Given the description of an element on the screen output the (x, y) to click on. 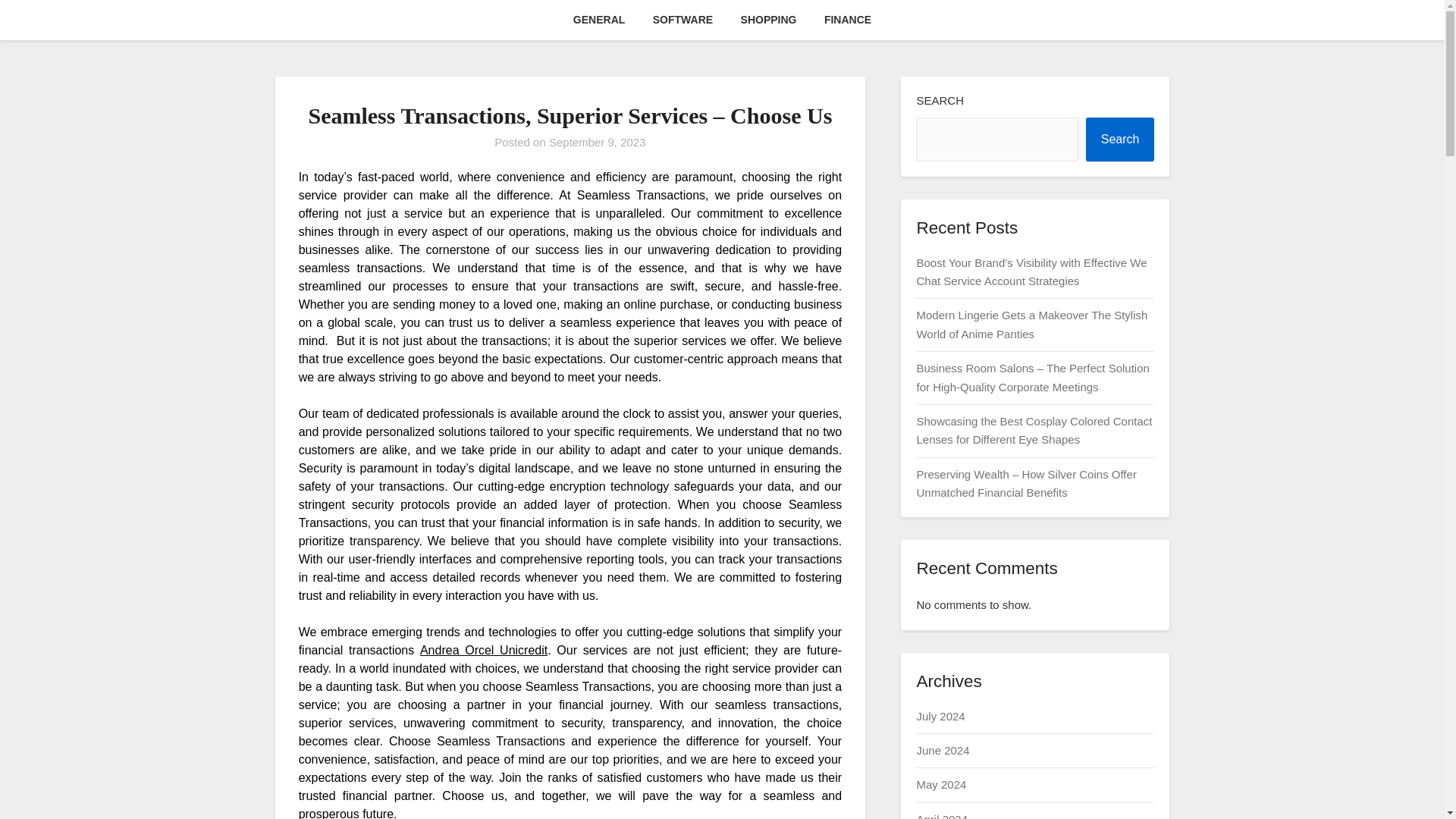
September 9, 2023 (597, 141)
May 2024 (940, 784)
FINANCE (847, 20)
Search (1120, 139)
July 2024 (939, 716)
Andrea Orcel Unicredit (483, 649)
June 2024 (942, 749)
SOFTWARE (682, 20)
SHOPPING (769, 20)
April 2024 (941, 816)
GENERAL (598, 20)
